Given the description of an element on the screen output the (x, y) to click on. 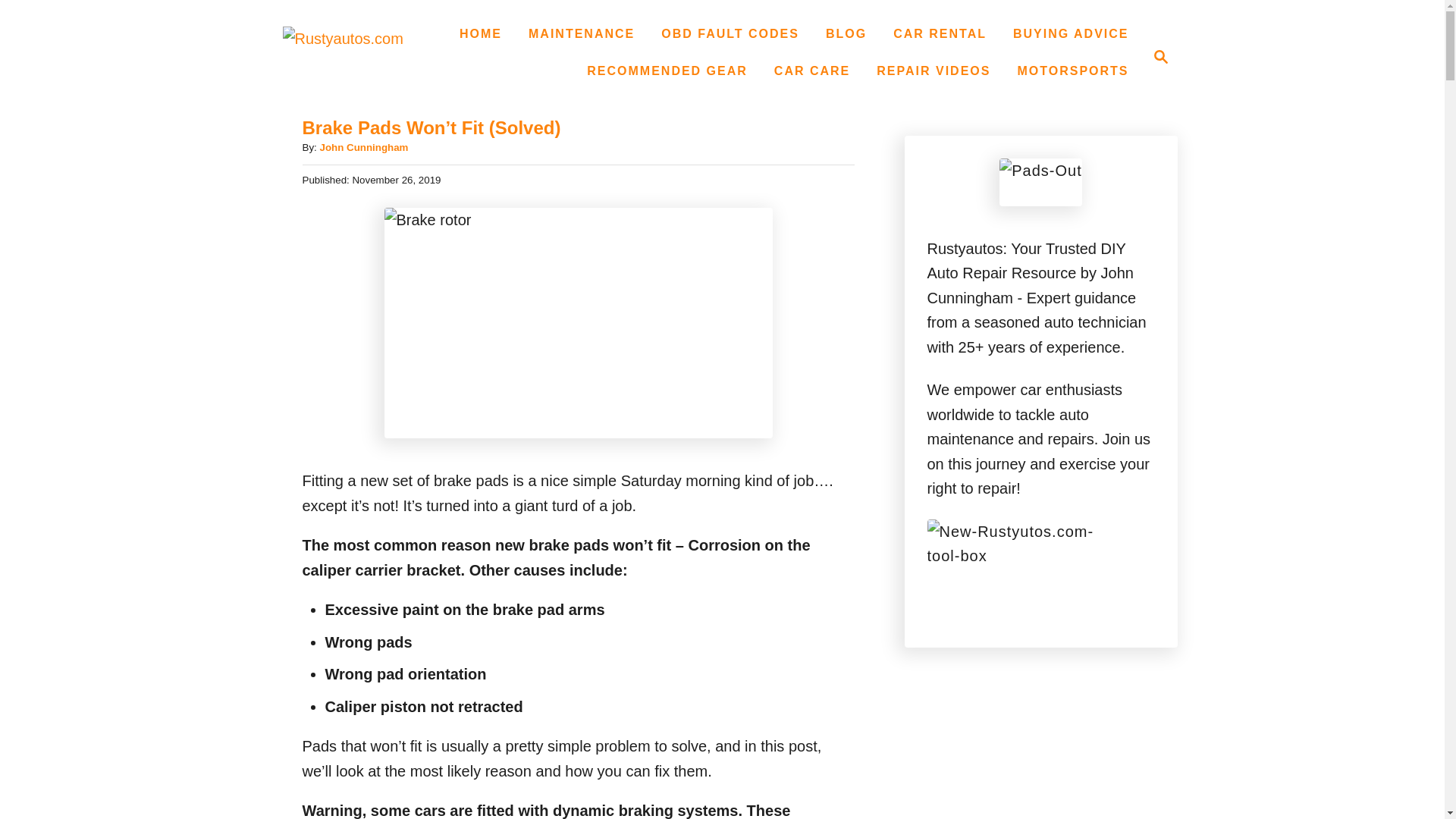
BUYING ADVICE (1071, 33)
HOME (480, 33)
John Cunningham (362, 147)
CAR RENTAL (939, 33)
OBD FAULT CODES (729, 33)
Magnifying Glass (1160, 55)
RECOMMENDED GEAR (667, 70)
CAR CARE (1155, 55)
Rustyautos.com (812, 70)
BLOG (357, 56)
MOTORSPORTS (846, 33)
MAINTENANCE (1072, 70)
Skip to Content (581, 33)
